Given the description of an element on the screen output the (x, y) to click on. 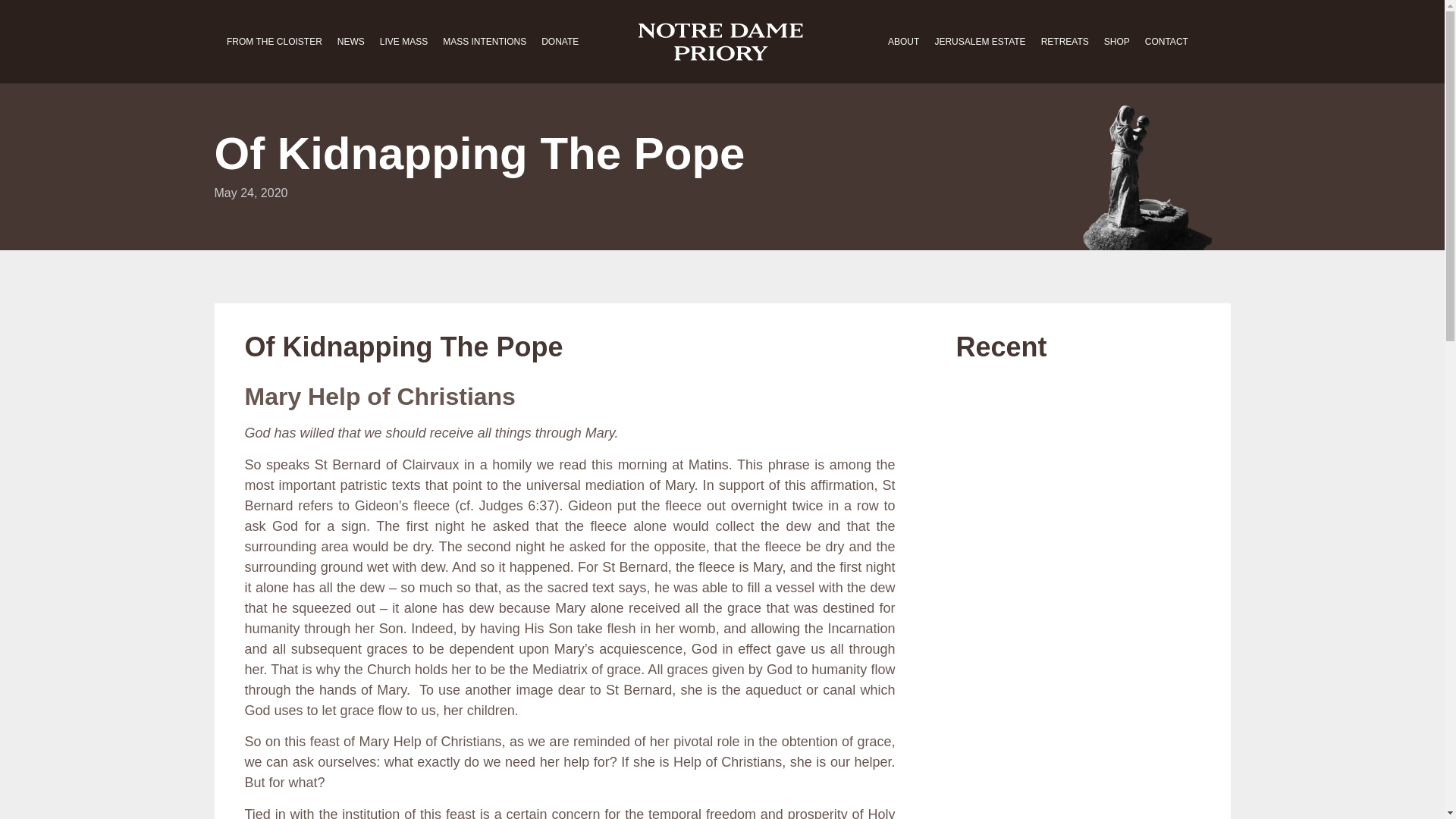
DONATE (560, 41)
MASS INTENTIONS (484, 41)
LIVE MASS (403, 41)
NEWS (351, 41)
RETREATS (1064, 41)
FROM THE CLOISTER (274, 41)
CONTACT (1166, 41)
JERUSALEM ESTATE (979, 41)
SHOP (1116, 41)
ABOUT (903, 41)
